Given the description of an element on the screen output the (x, y) to click on. 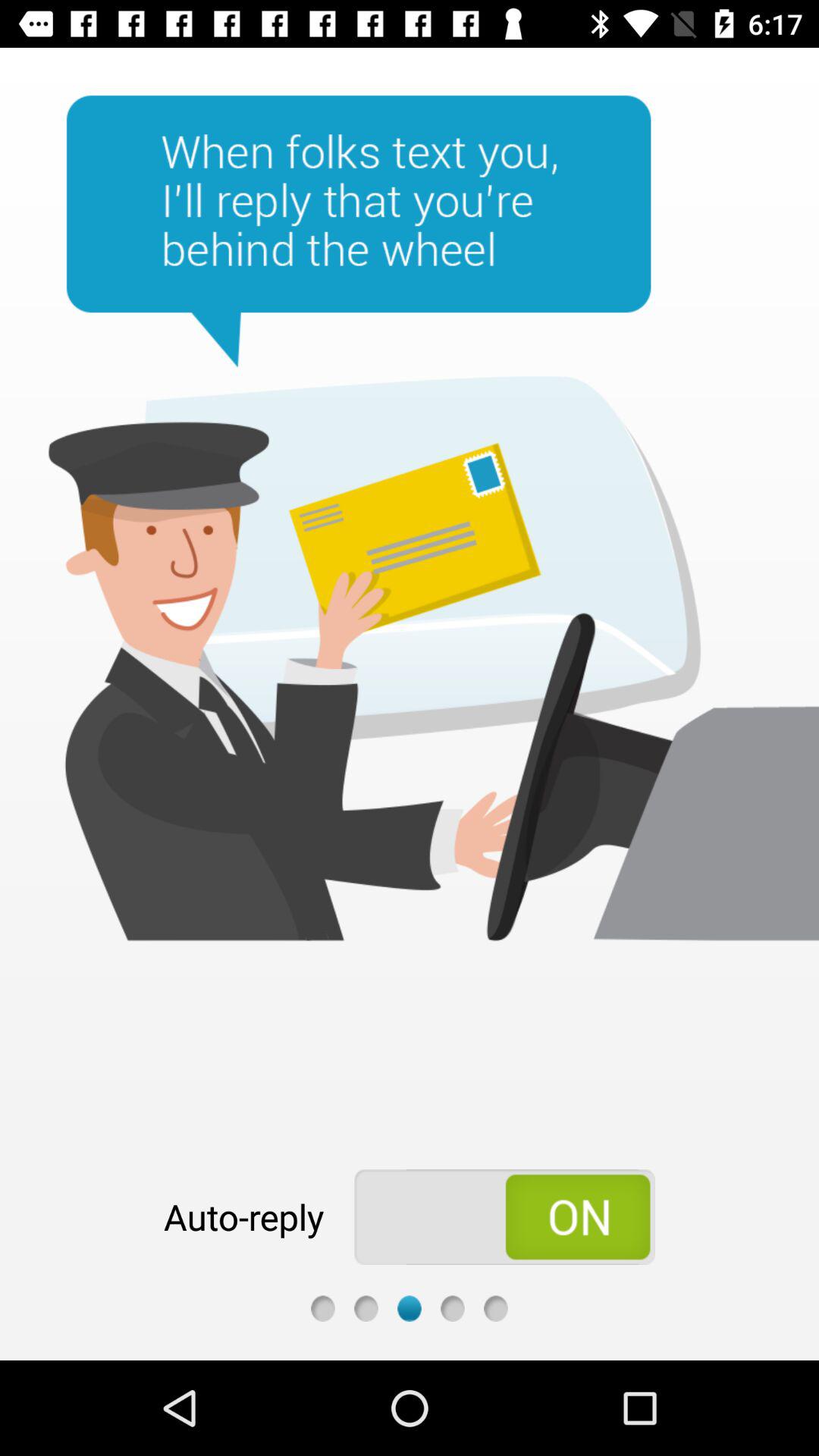
next page (409, 1308)
